Given the description of an element on the screen output the (x, y) to click on. 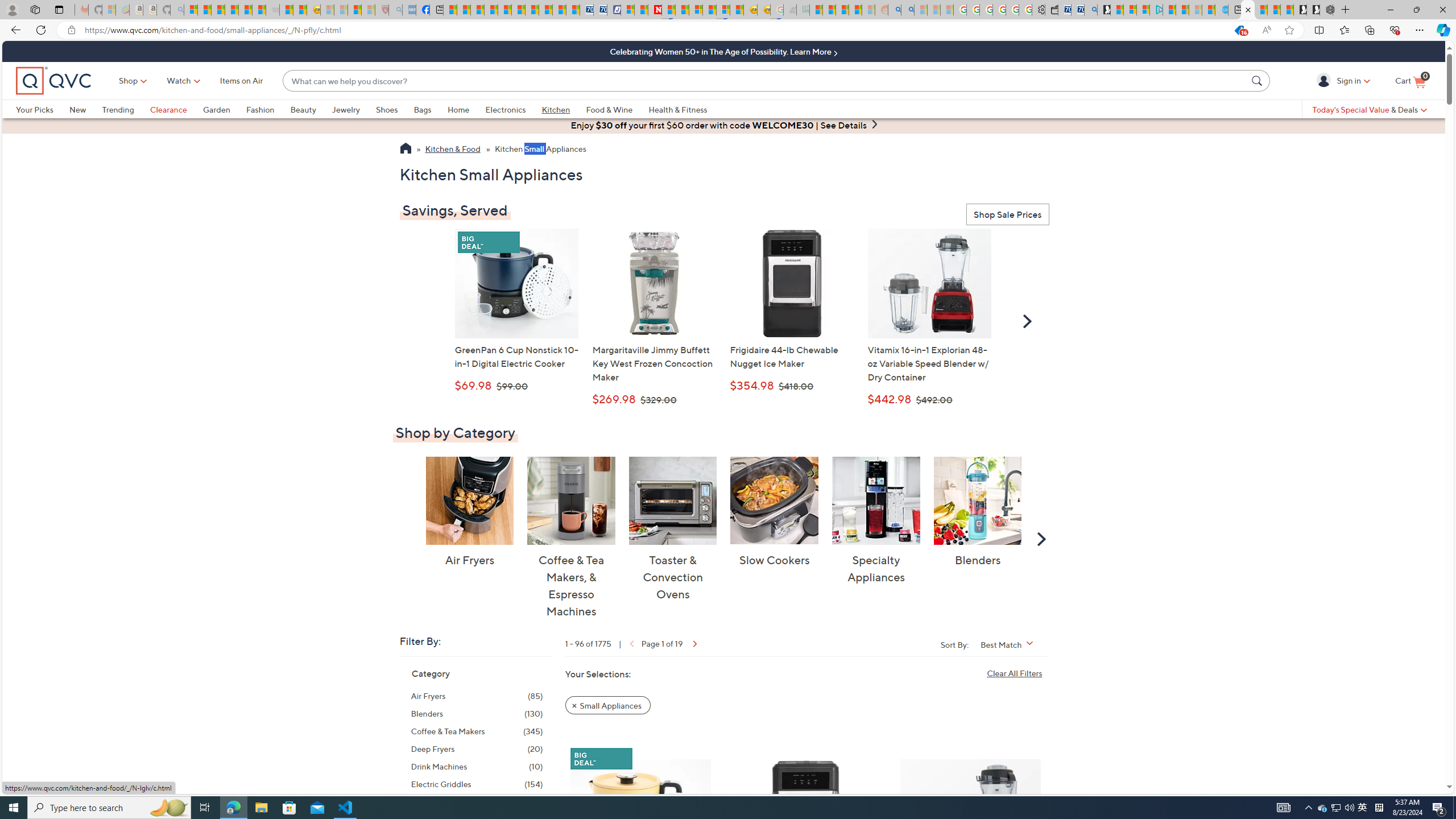
Specialty Appliances (875, 500)
Bags (429, 109)
What can we help you discover? (764, 80)
